Given the description of an element on the screen output the (x, y) to click on. 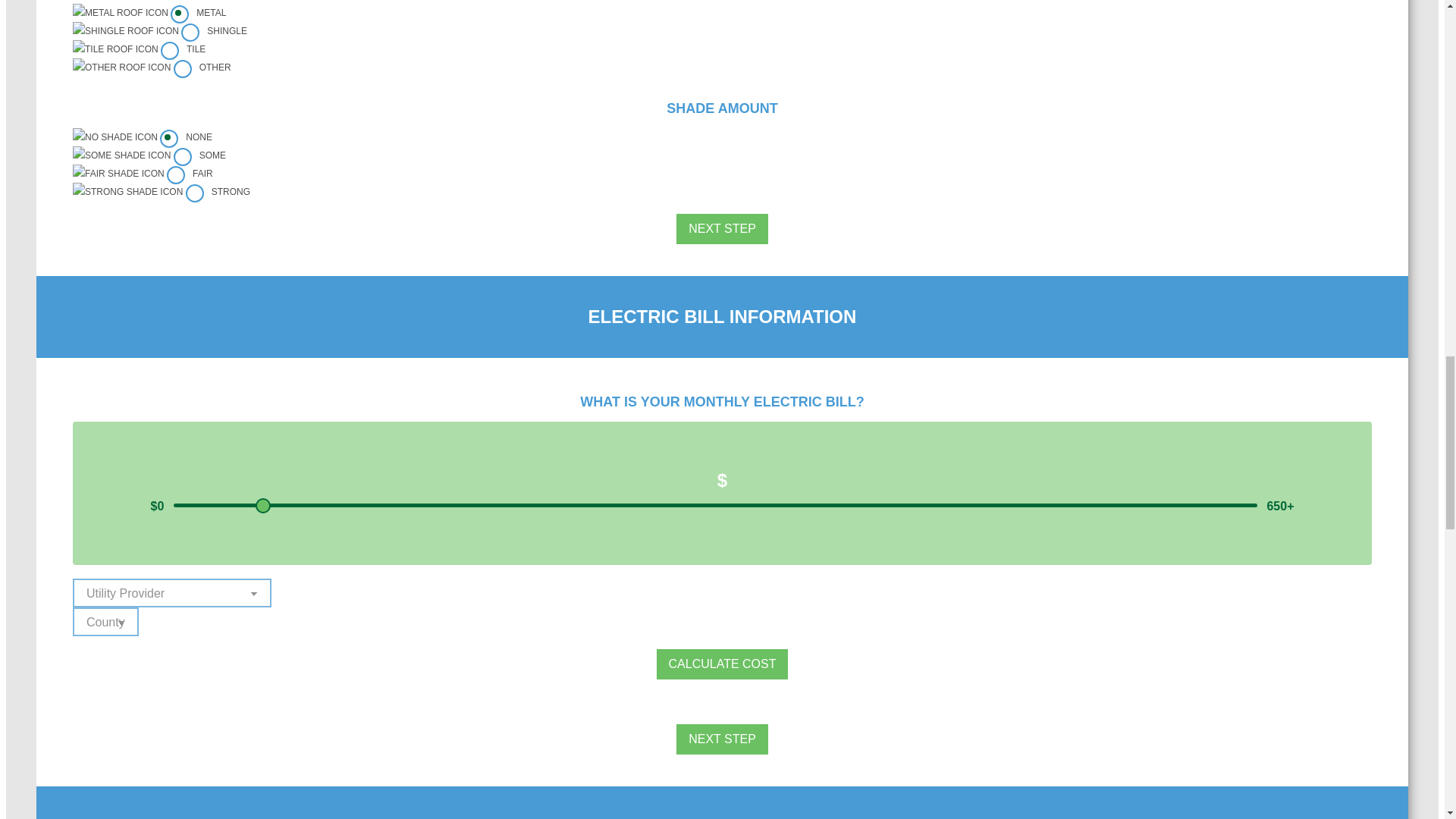
NEXT STEP (721, 739)
NEXT STEP (721, 228)
CALCULATE COST (722, 664)
